Given the description of an element on the screen output the (x, y) to click on. 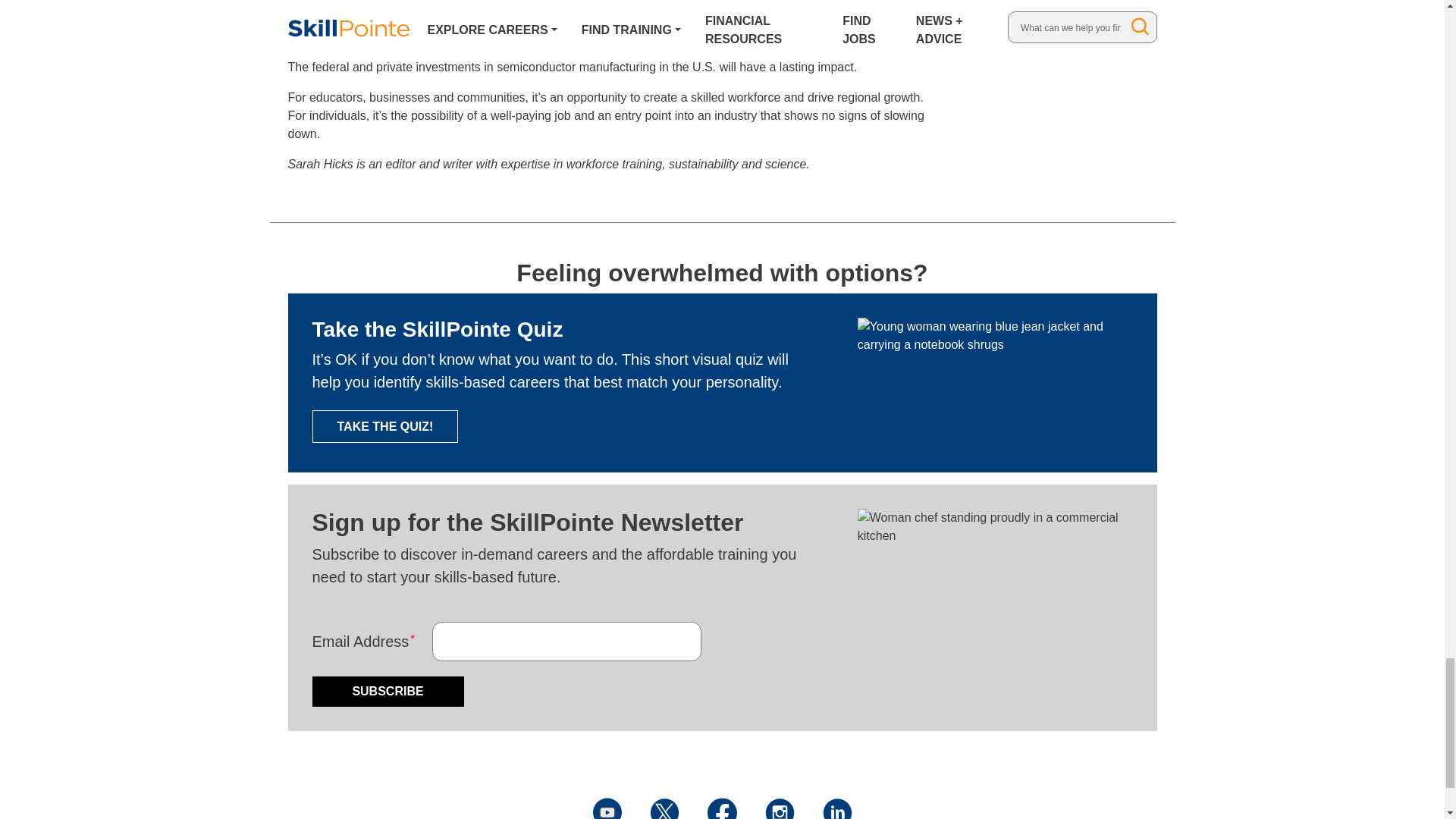
Subscribe (388, 691)
